Given the description of an element on the screen output the (x, y) to click on. 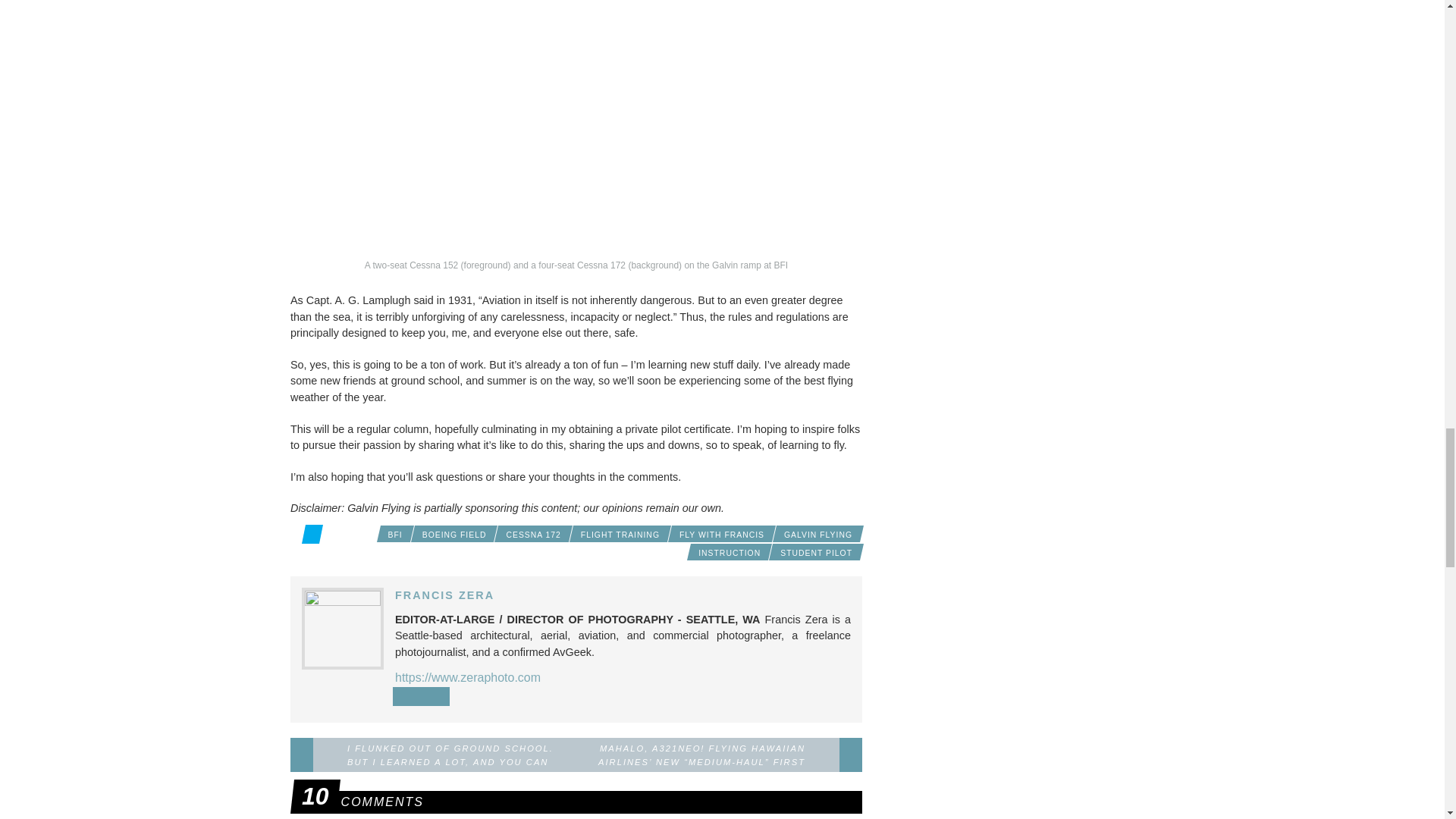
BFI (395, 533)
STUDENT PILOT (816, 551)
INSTRUCTION (729, 551)
FRANCIS ZERA (444, 594)
FLIGHT TRAINING (619, 533)
BOEING FIELD (454, 533)
CESSNA 172 (532, 533)
GALVIN FLYING (818, 533)
FLY WITH FRANCIS (721, 533)
